Given the description of an element on the screen output the (x, y) to click on. 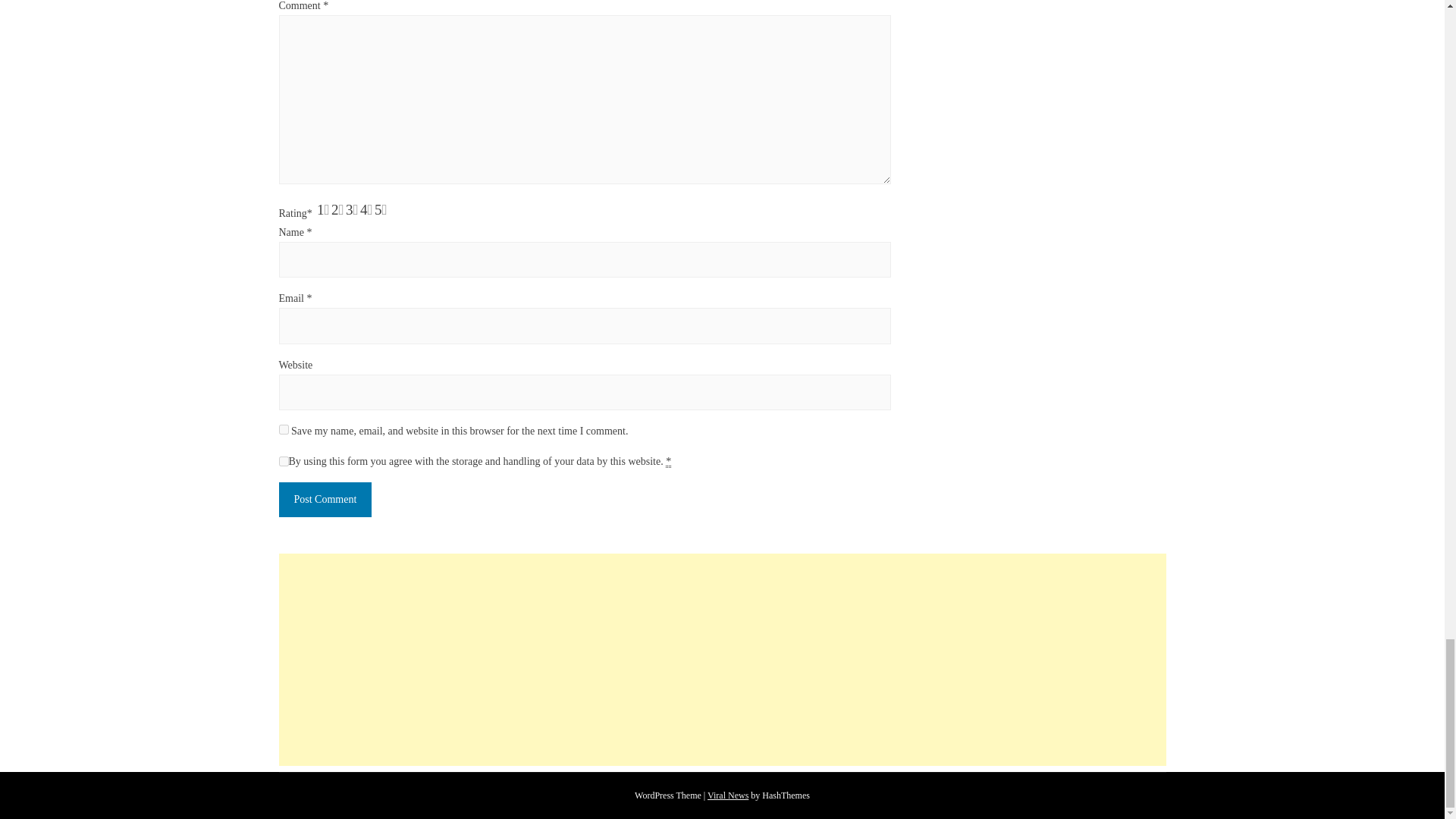
Download Viral News (727, 795)
yes (283, 429)
Post Comment (325, 499)
